Given the description of an element on the screen output the (x, y) to click on. 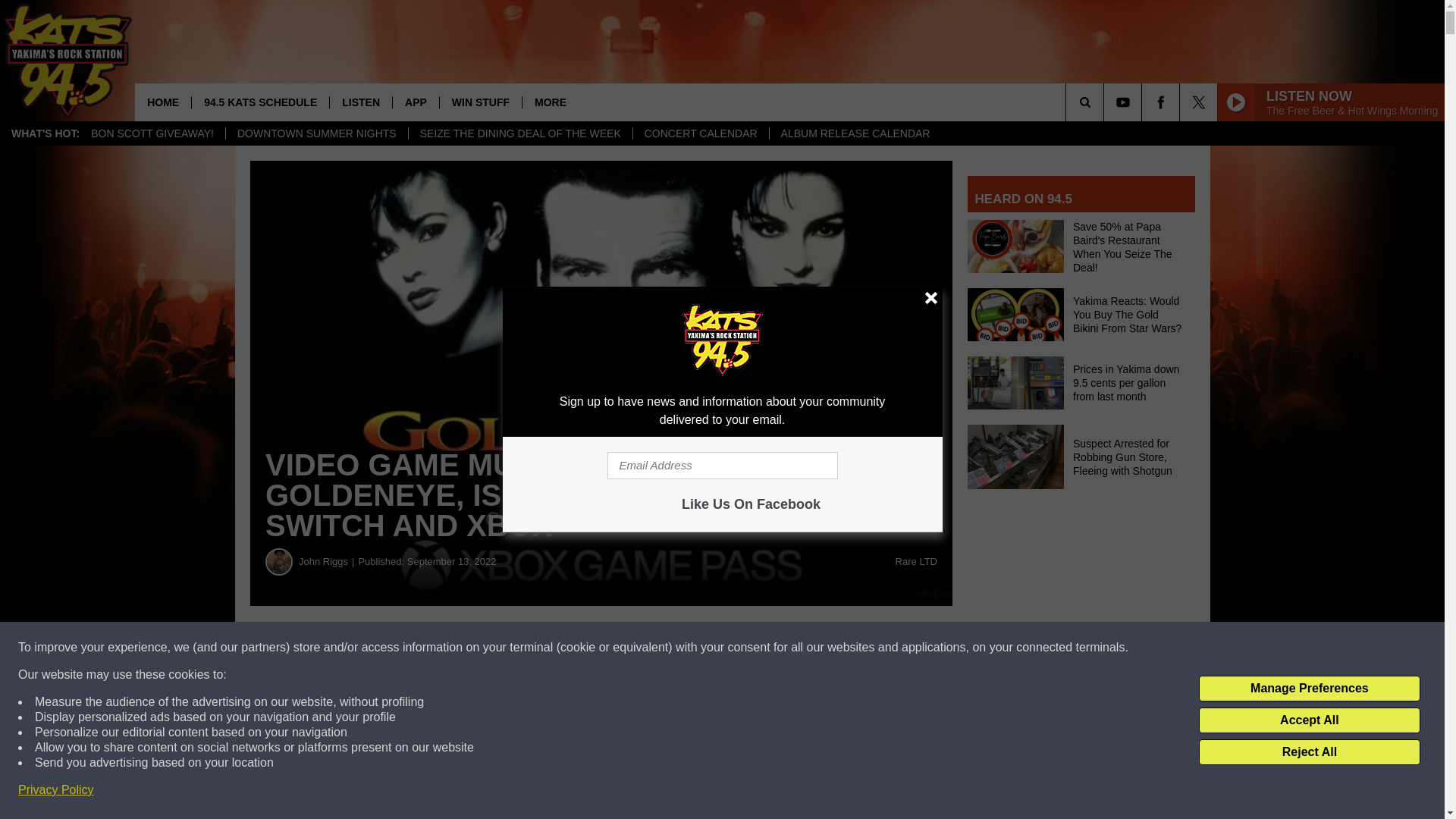
Manage Preferences (1309, 688)
ALBUM RELEASE CALENDAR (855, 133)
Share on Facebook (460, 647)
SEIZE THE DINING DEAL OF THE WEEK (519, 133)
Accept All (1309, 720)
DOWNTOWN SUMMER NIGHTS (316, 133)
MORE (549, 102)
BON SCOTT GIVEAWAY! (152, 133)
Privacy Policy (55, 789)
Share on Twitter (741, 647)
HOME (162, 102)
WIN STUFF (480, 102)
CONCERT CALENDAR (699, 133)
SEARCH (1106, 102)
94.5 KATS SCHEDULE (259, 102)
